Given the description of an element on the screen output the (x, y) to click on. 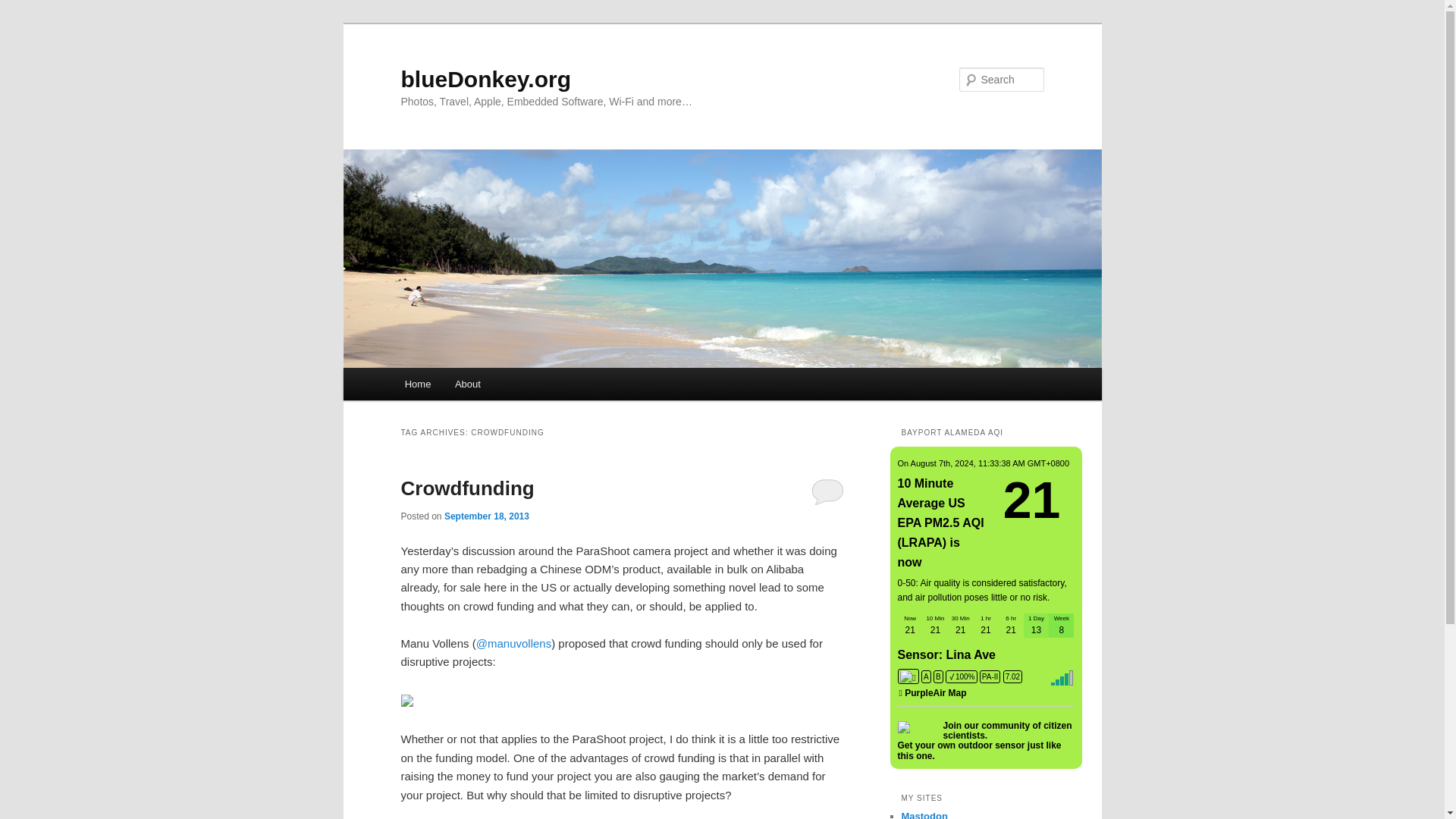
blueDonkey.org (485, 78)
My Mastodon Page (924, 814)
Crowdfunding (467, 487)
September 18, 2013 (486, 516)
Mastodon (924, 814)
12:02 pm (486, 516)
Search (24, 8)
Home (417, 383)
About (467, 383)
